Given the description of an element on the screen output the (x, y) to click on. 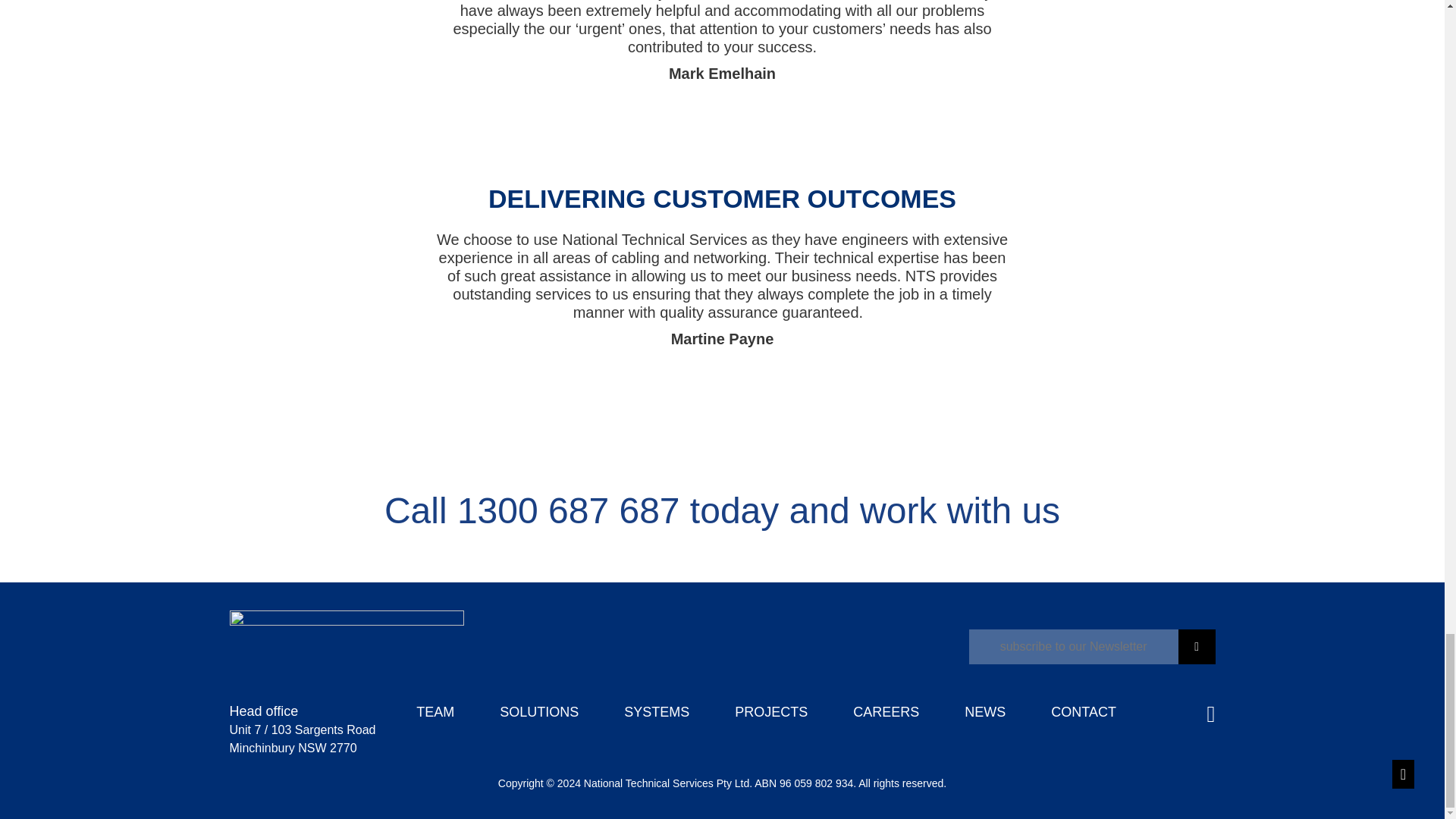
SOLUTIONS (538, 711)
TEAM (435, 711)
CAREERS (885, 711)
SYSTEMS (656, 711)
NEWS (984, 711)
1300 687 687 (568, 510)
CONTACT (1083, 711)
PROJECTS (771, 711)
